Given the description of an element on the screen output the (x, y) to click on. 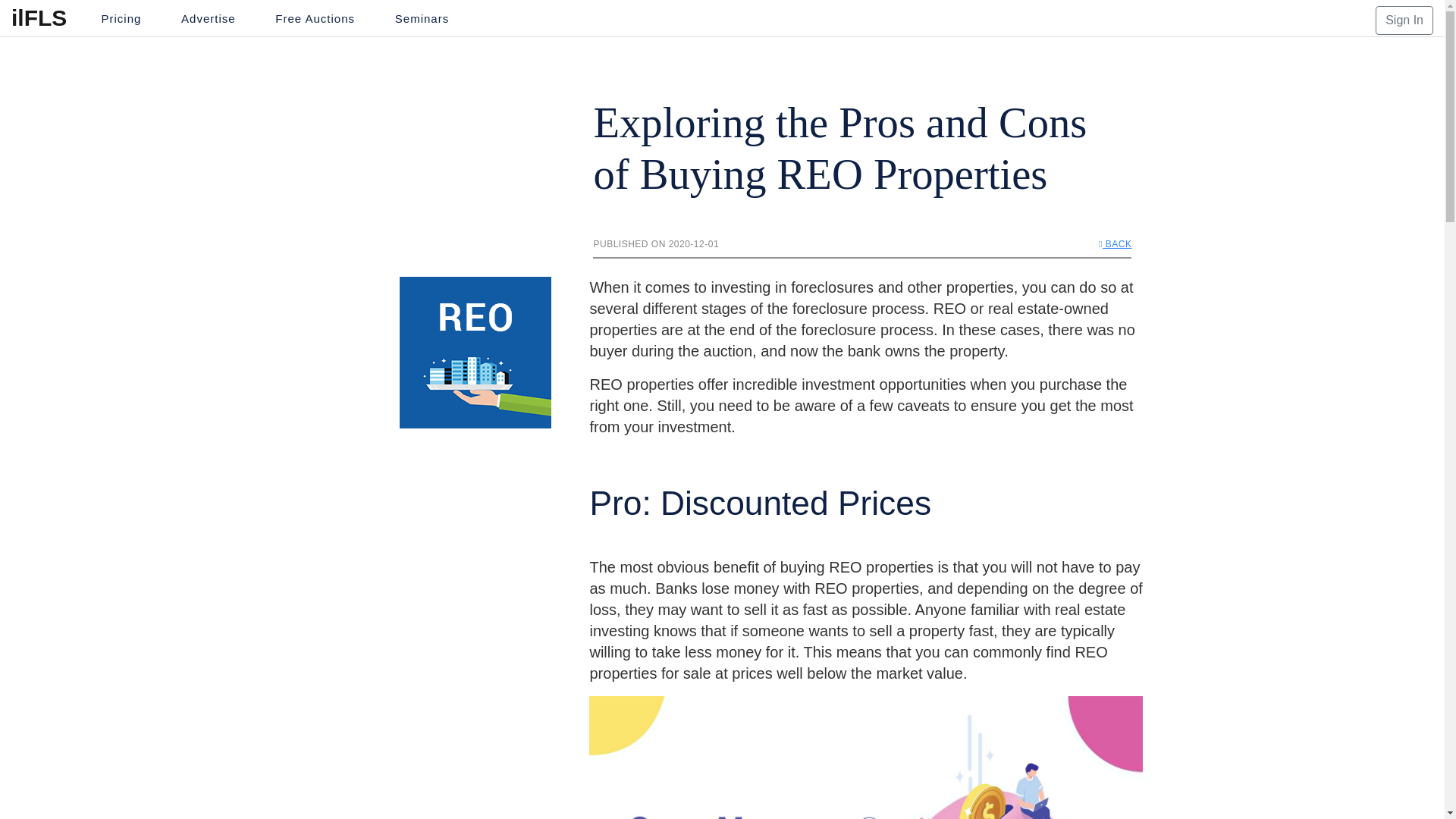
Advertise (208, 18)
Free Auctions (314, 18)
ilFLS (38, 18)
Free Auctions (314, 18)
Sign In (1403, 20)
Pricing (120, 18)
Seminars (421, 18)
BACK (1115, 244)
Advertise (208, 18)
Pricing (120, 18)
